Given the description of an element on the screen output the (x, y) to click on. 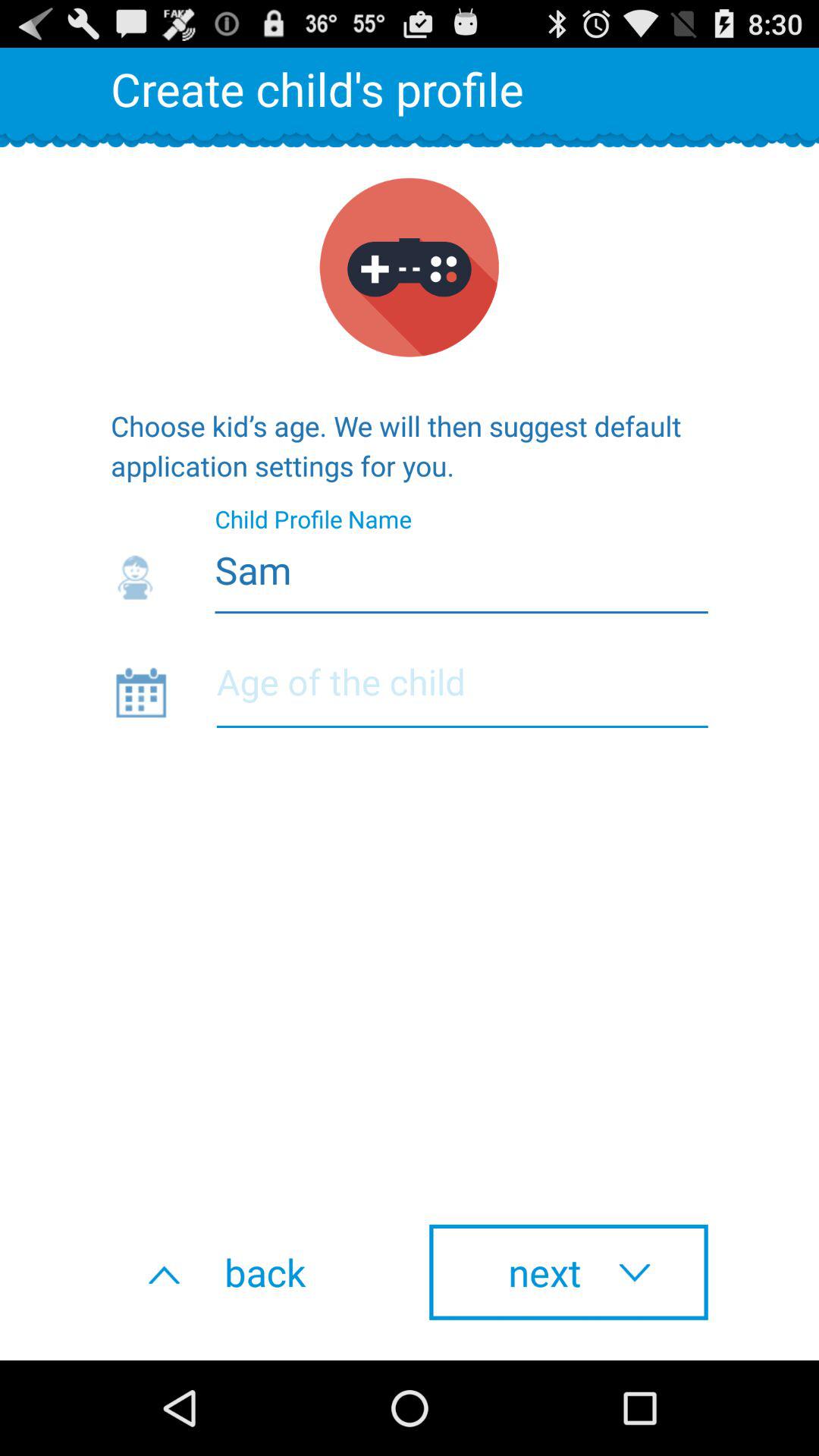
jump to the sam icon (409, 565)
